Given the description of an element on the screen output the (x, y) to click on. 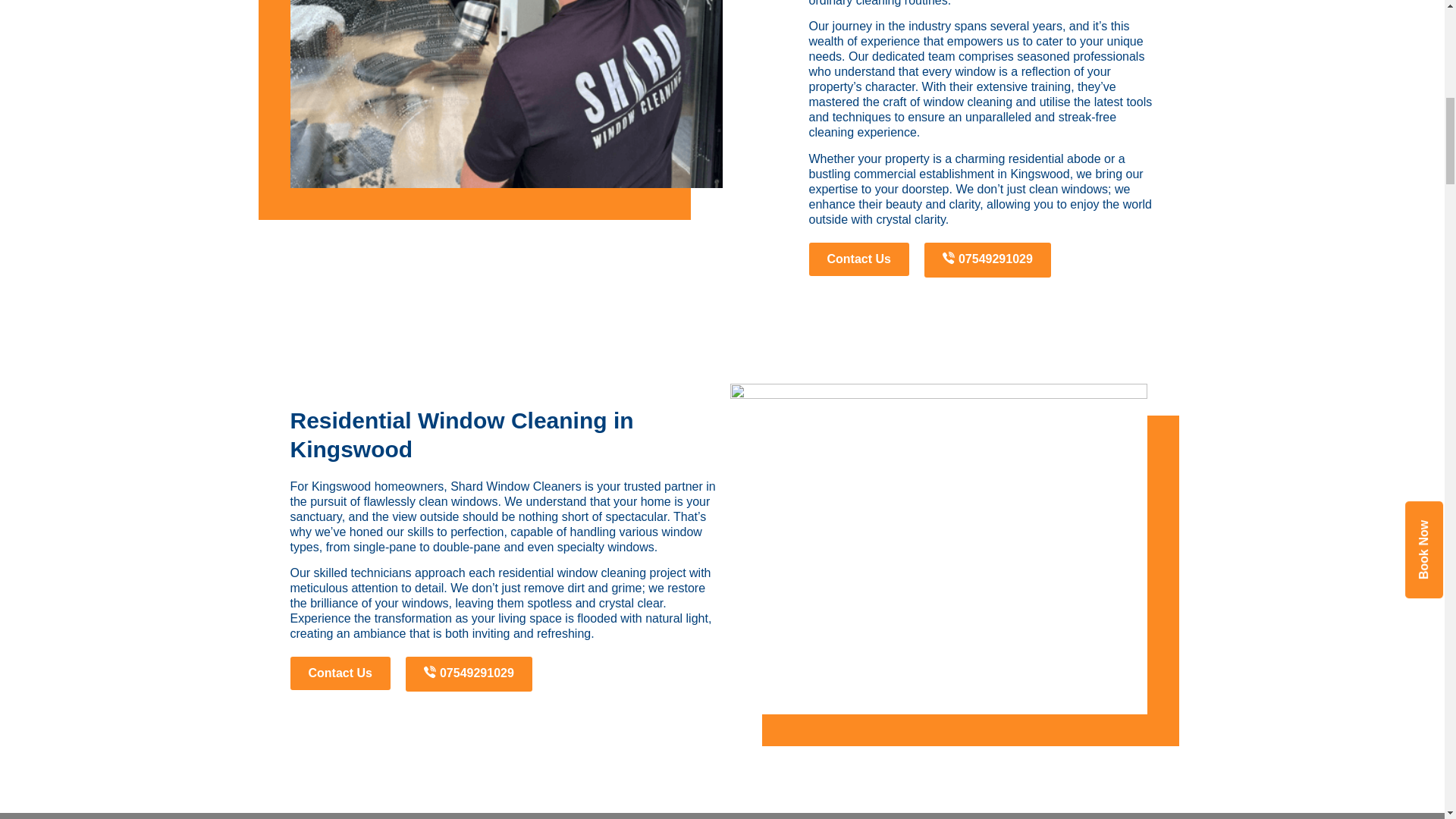
07549291029 (987, 259)
07549291029 (469, 673)
Contact Us (339, 673)
Contact Us (858, 259)
